Given the description of an element on the screen output the (x, y) to click on. 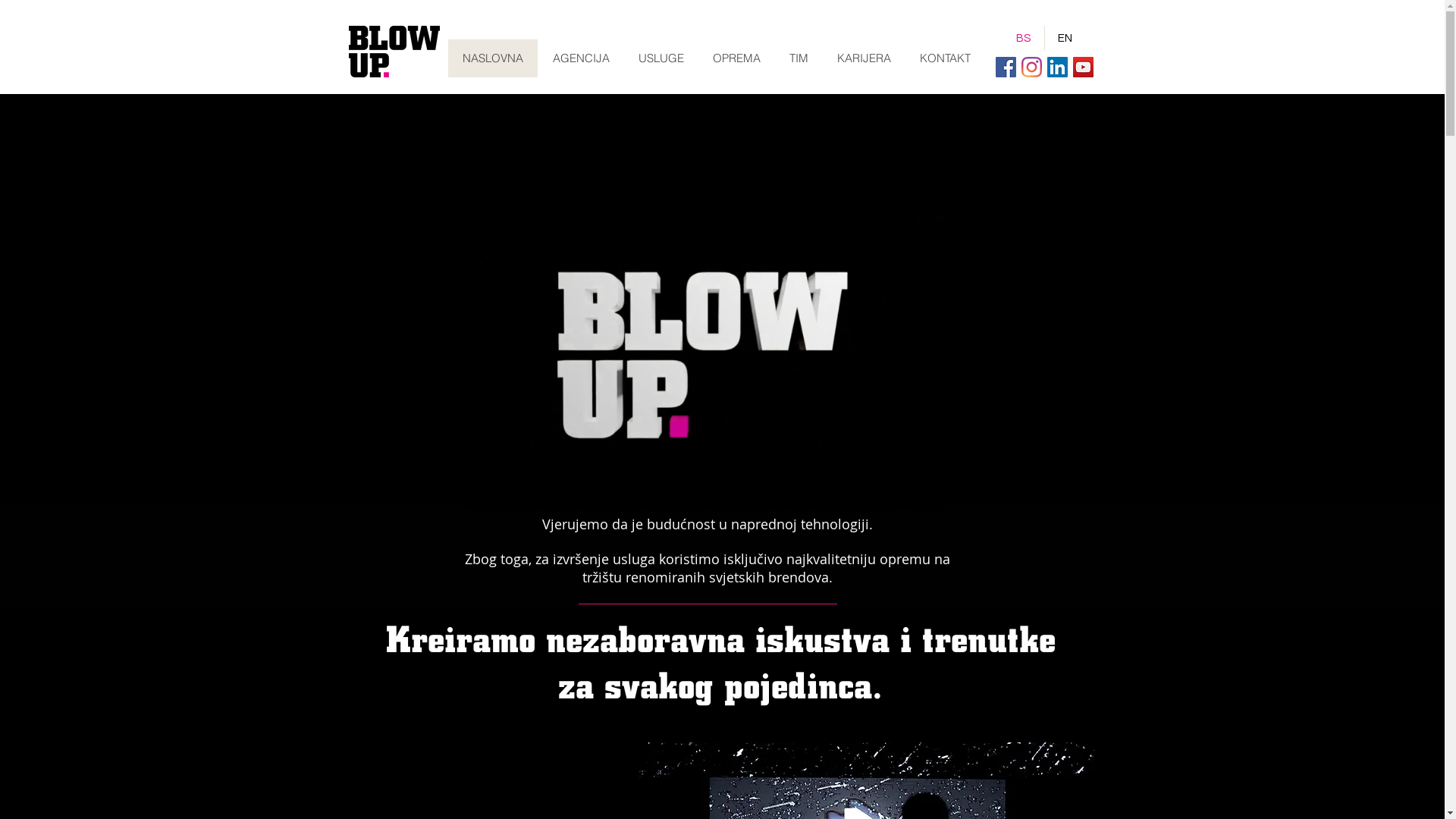
NASLOVNA Element type: text (491, 58)
USLUGE Element type: text (660, 58)
AGENCIJA Element type: text (579, 58)
OPREMA Element type: text (735, 58)
KARIJERA Element type: text (863, 58)
KONTAKT Element type: text (945, 58)
TIM Element type: text (798, 58)
BS Element type: text (1022, 37)
EN Element type: text (1064, 37)
